Given the description of an element on the screen output the (x, y) to click on. 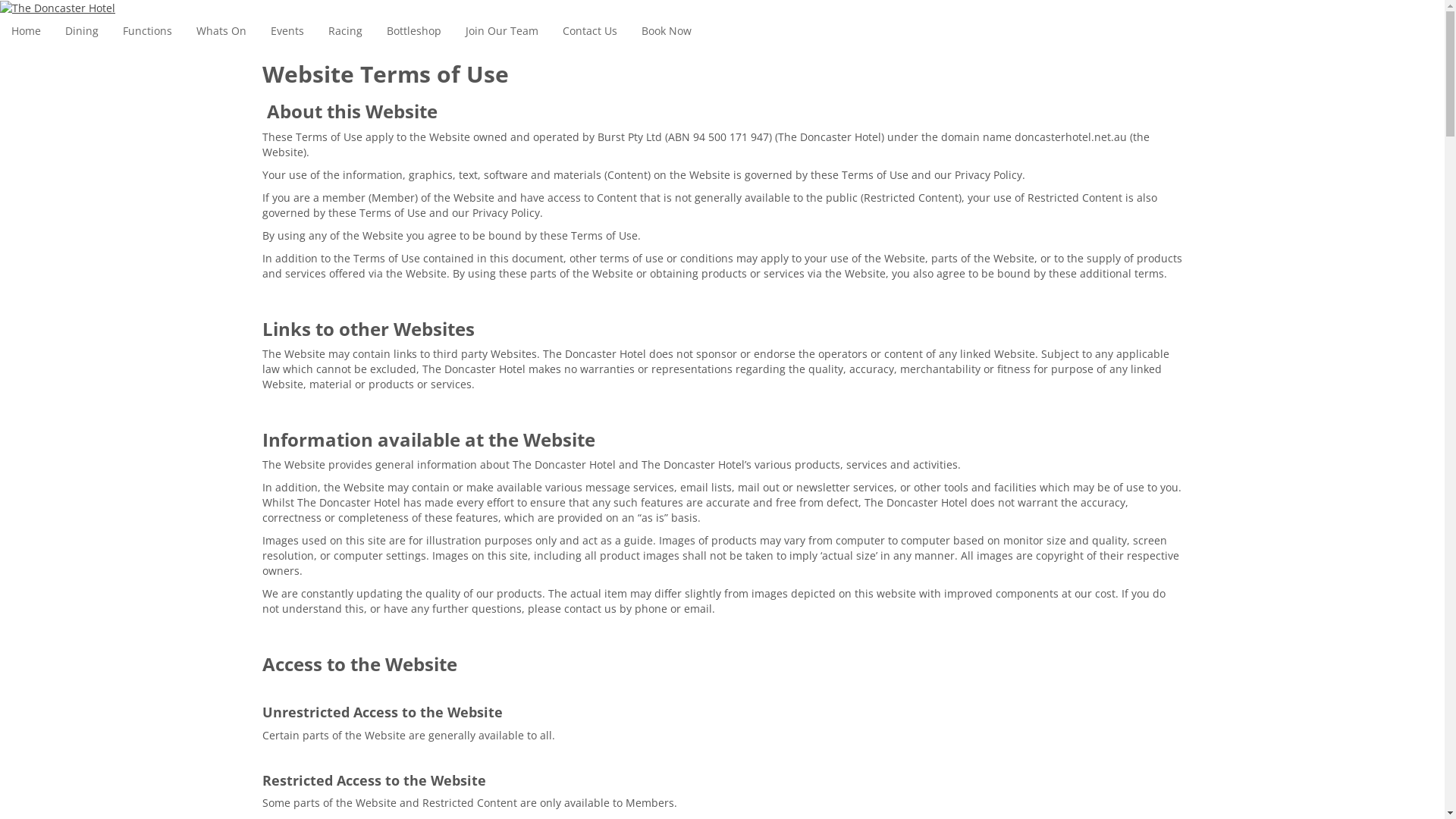
Dining Element type: text (81, 30)
Racing Element type: text (344, 30)
Bottleshop Element type: text (413, 30)
Home Element type: text (26, 30)
Functions Element type: text (147, 30)
Whats On Element type: text (221, 30)
Book Now Element type: text (666, 30)
Events Element type: text (287, 30)
Join Our Team Element type: text (501, 30)
Contact Us Element type: text (589, 30)
